Given the description of an element on the screen output the (x, y) to click on. 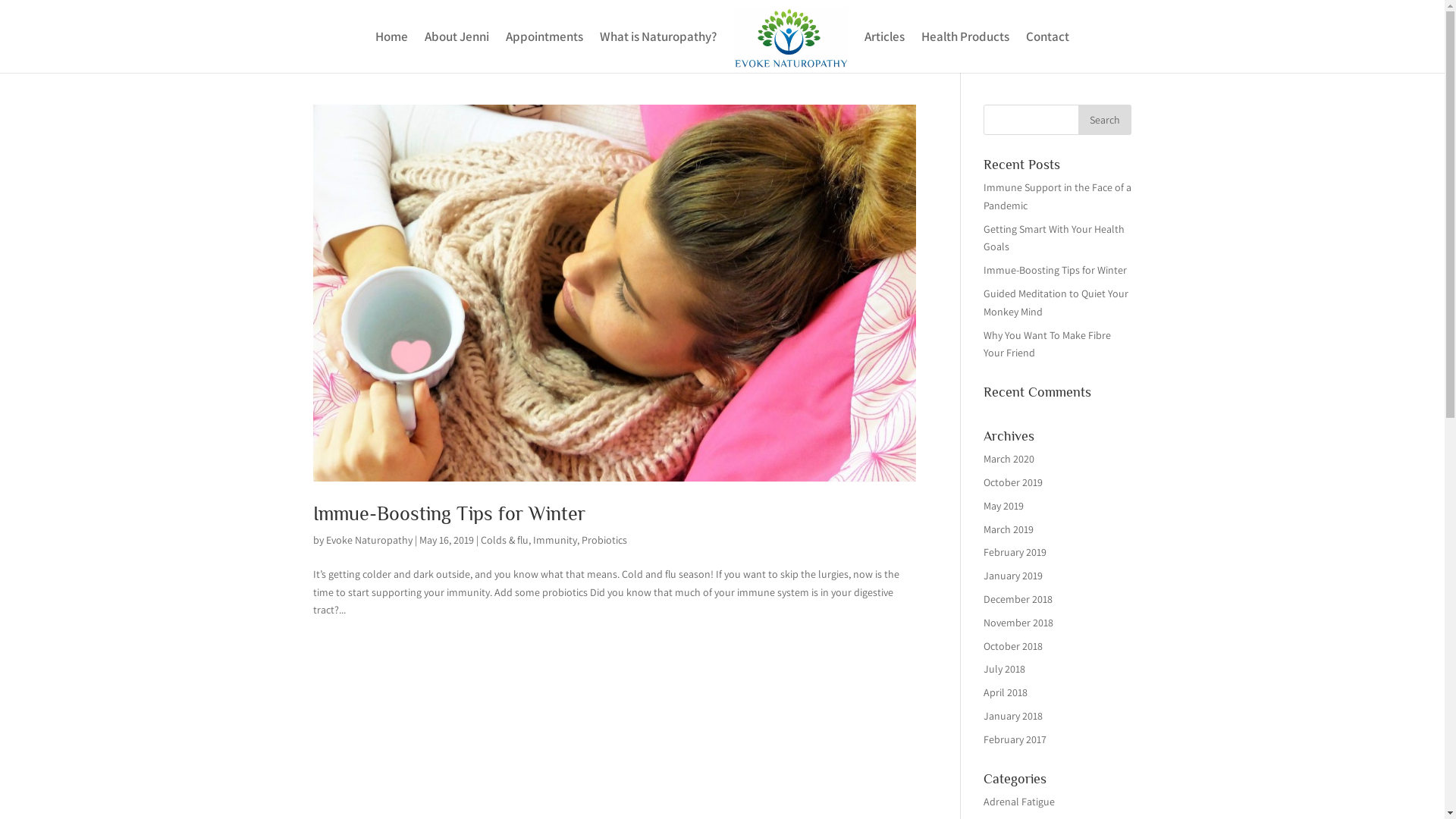
March 2020 Element type: text (1008, 458)
February 2019 Element type: text (1014, 551)
May 2019 Element type: text (1003, 505)
Health Products Element type: text (965, 51)
Immune Support in the Face of a Pandemic Element type: text (1057, 196)
November 2018 Element type: text (1018, 622)
Probiotics Element type: text (603, 539)
Appointments Element type: text (544, 51)
Search Element type: text (1104, 119)
October 2019 Element type: text (1012, 482)
Evoke Naturopathy Element type: text (369, 539)
Guided Meditation to Quiet Your Monkey Mind Element type: text (1055, 302)
Adrenal Fatigue Element type: text (1018, 801)
January 2018 Element type: text (1012, 715)
December 2018 Element type: text (1017, 598)
Colds & flu Element type: text (504, 539)
January 2019 Element type: text (1012, 575)
April 2018 Element type: text (1005, 692)
October 2018 Element type: text (1012, 645)
About Jenni Element type: text (456, 51)
Immue-Boosting Tips for Winter Element type: text (448, 513)
Contact Element type: text (1047, 51)
Home Element type: text (391, 51)
July 2018 Element type: text (1004, 668)
What is Naturopathy? Element type: text (657, 51)
February 2017 Element type: text (1014, 739)
Immunity Element type: text (554, 539)
March 2019 Element type: text (1008, 529)
Articles Element type: text (884, 51)
Getting Smart With Your Health Goals Element type: text (1053, 238)
Immue-Boosting Tips for Winter Element type: text (1054, 269)
Why You Want To Make Fibre Your Friend Element type: text (1046, 344)
